Given the description of an element on the screen output the (x, y) to click on. 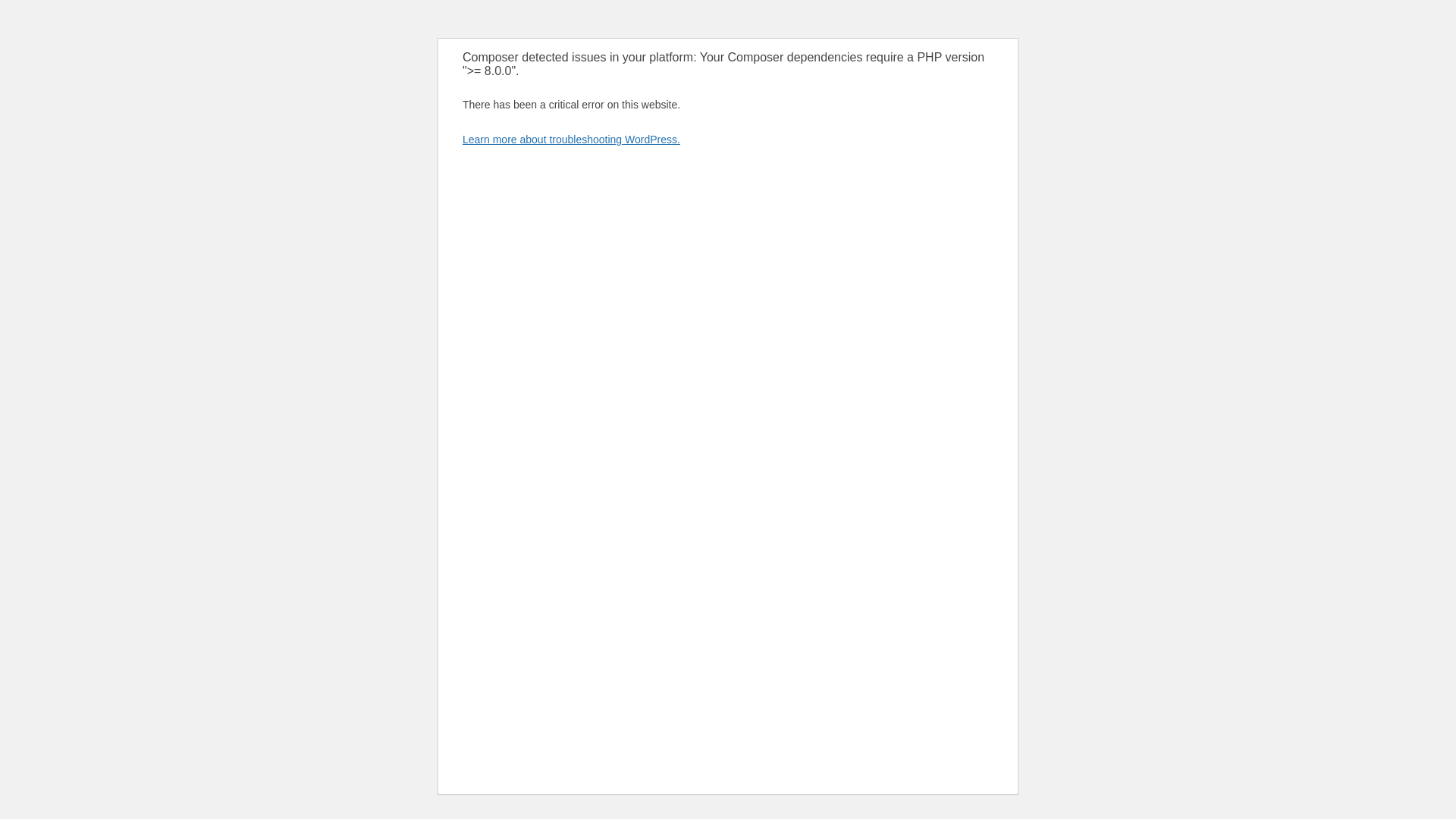
Learn more about troubleshooting WordPress. (571, 139)
